Given the description of an element on the screen output the (x, y) to click on. 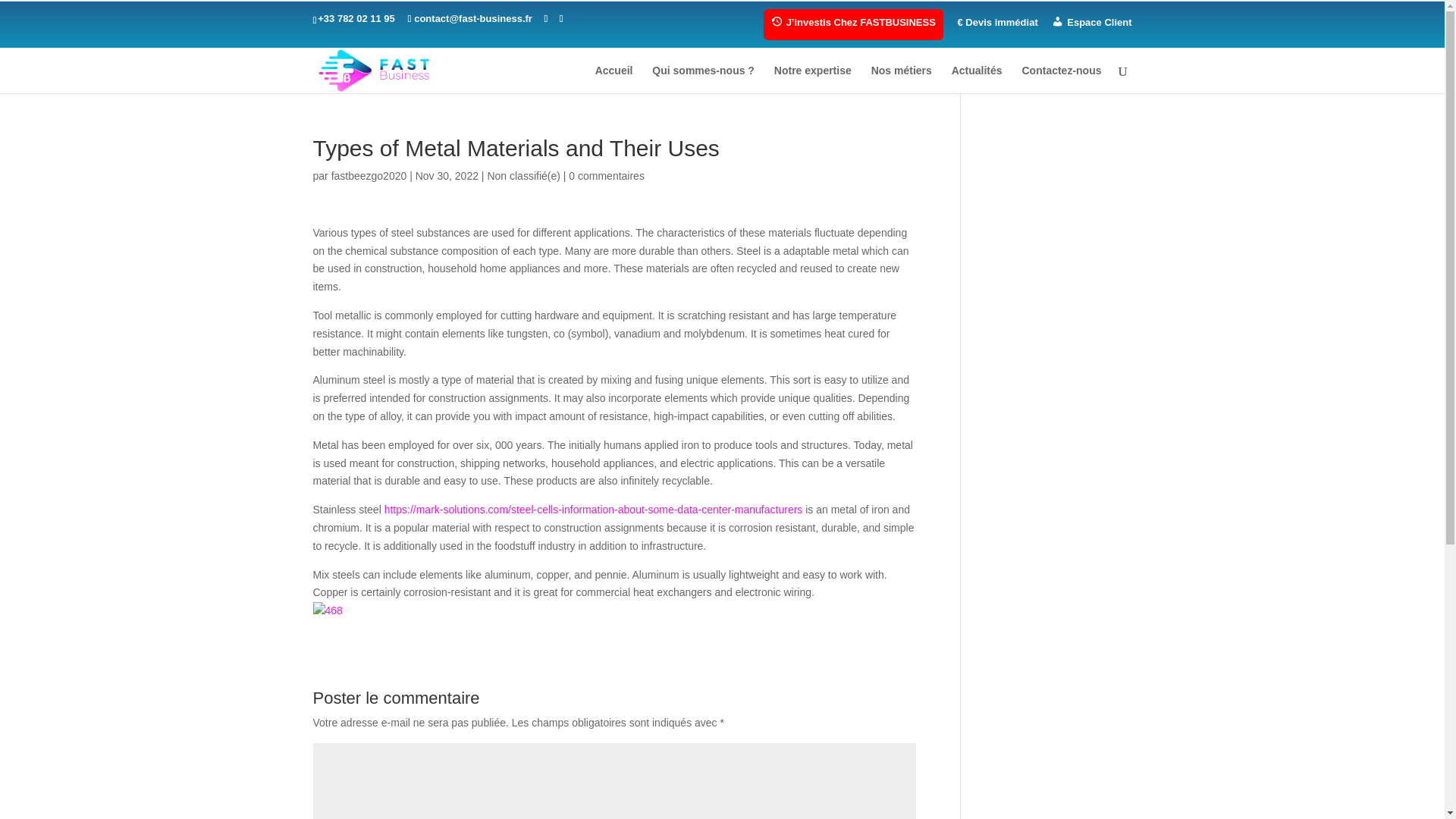
Accept all cookies (1240, 26)
Accueil (614, 79)
Articles de fastbeezgo2020 (369, 175)
0 commentaires (607, 175)
Notre expertise (812, 79)
fastbeezgo2020 (369, 175)
Decline cookies (1371, 26)
Espace Client (1091, 26)
Qui sommes-nous ? (703, 79)
Contactez-nous (1062, 79)
